Given the description of an element on the screen output the (x, y) to click on. 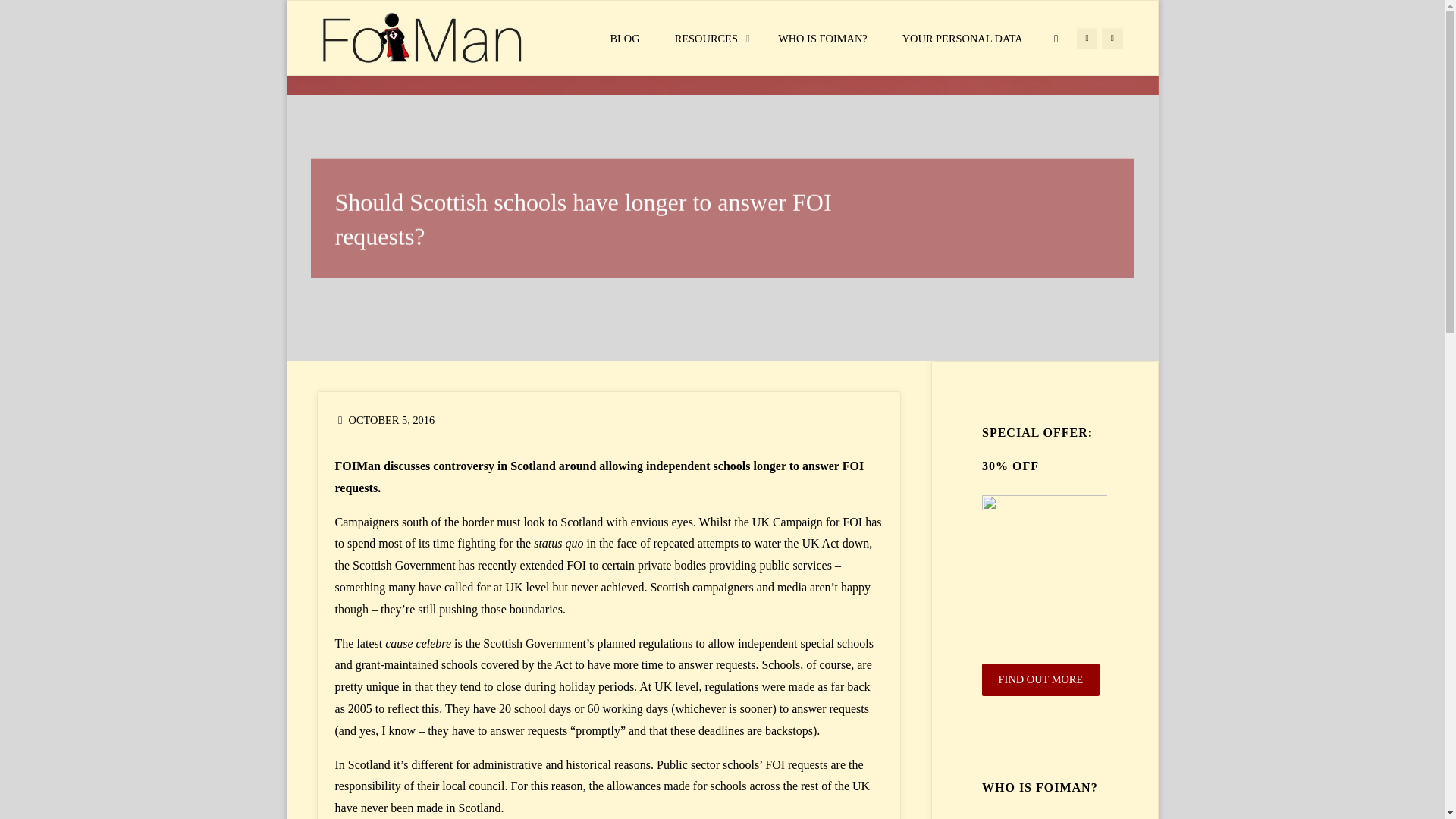
FOIMan (421, 38)
WHO IS FOIMAN? (822, 38)
RESOURCES (709, 38)
YOUR PERSONAL DATA (963, 38)
